Given the description of an element on the screen output the (x, y) to click on. 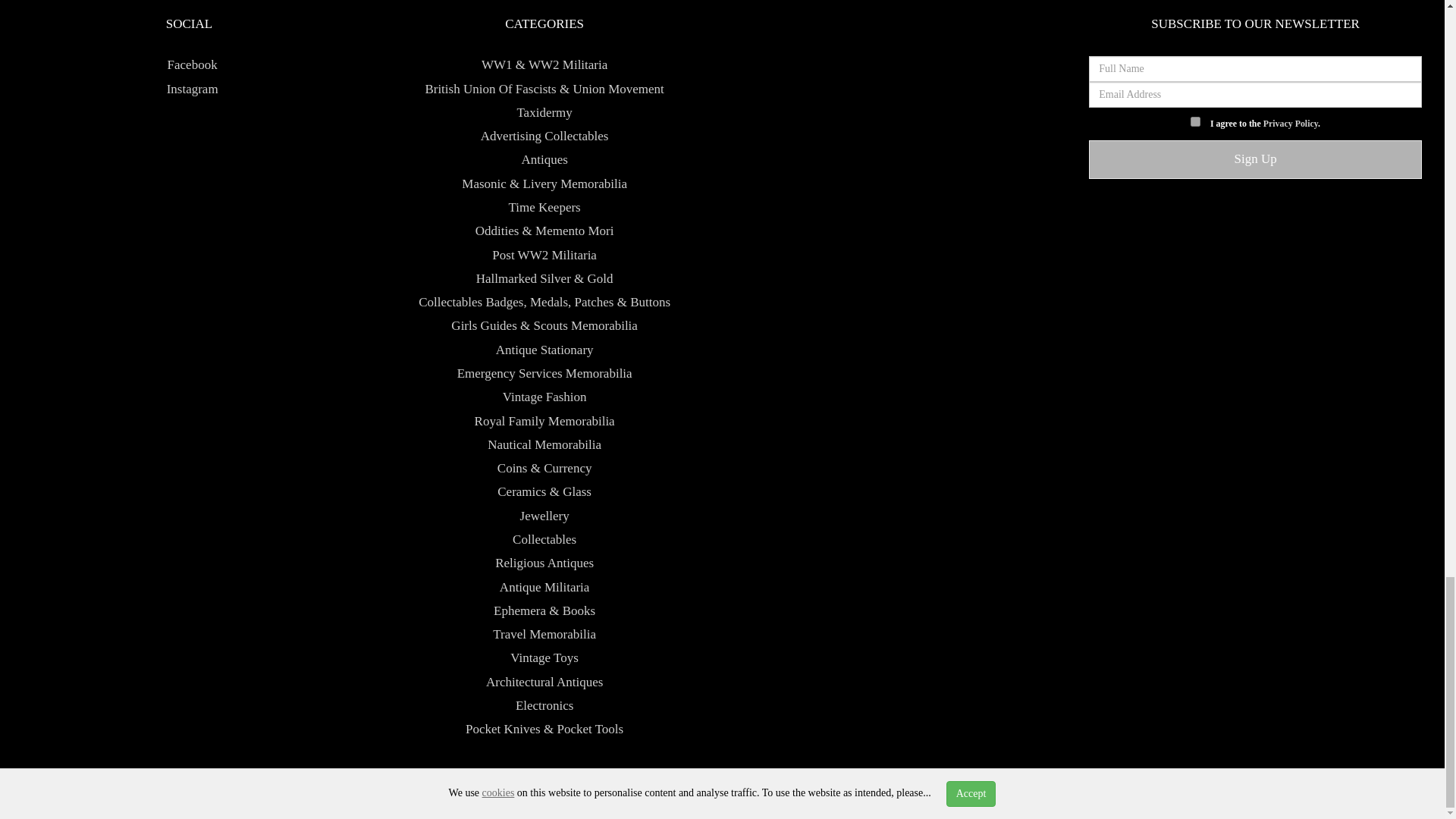
Antique Stationary (545, 350)
  Facebook (188, 64)
on (1195, 121)
Time Keepers (544, 206)
Antiques (544, 159)
Post WW2 Militaria (544, 255)
  Instagram (188, 88)
Vintage Fashion (544, 396)
Taxidermy (544, 112)
Advertising Collectables (544, 135)
Emergency Services Memorabilia (544, 373)
